Given the description of an element on the screen output the (x, y) to click on. 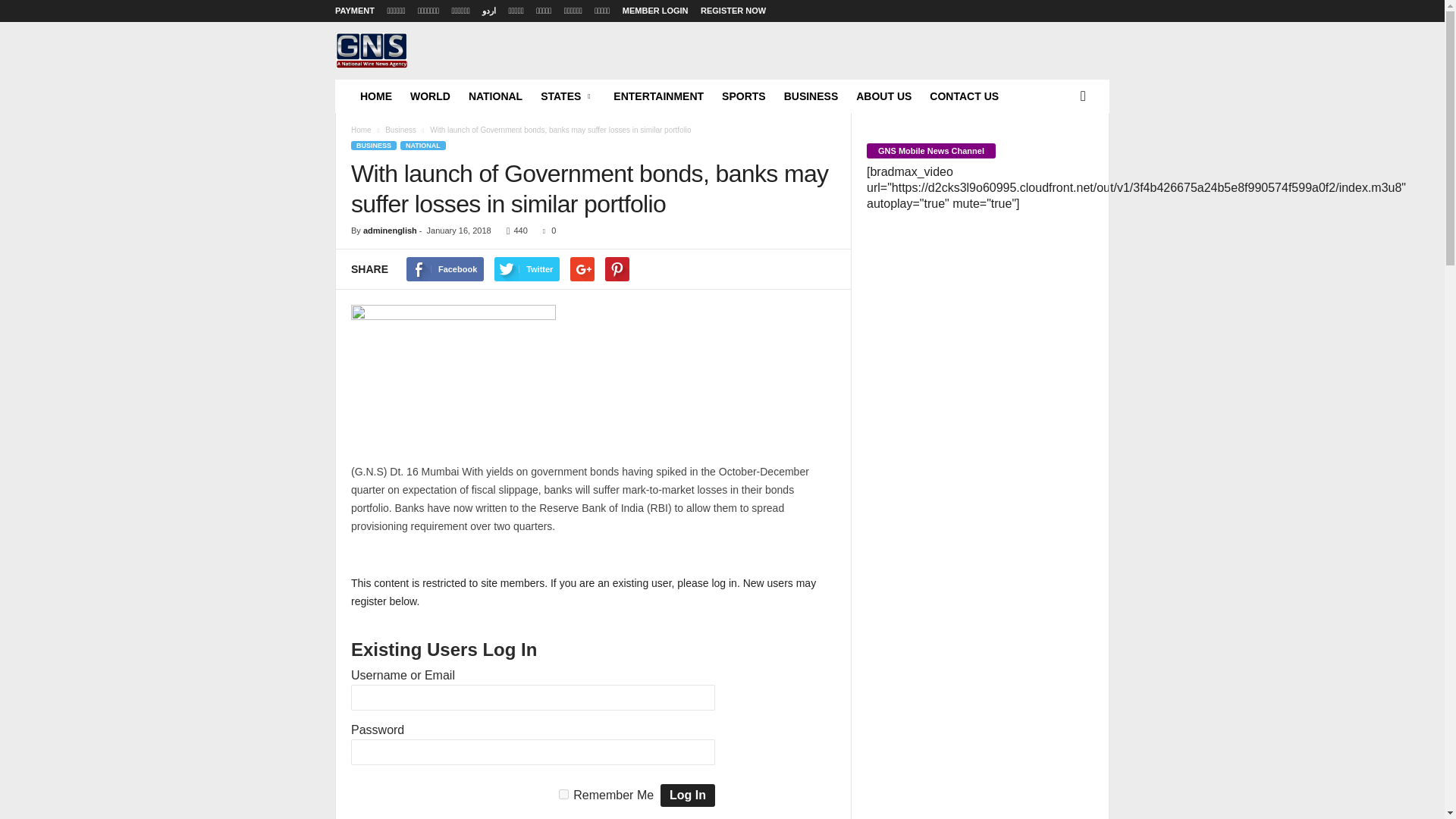
View all posts in Business (400, 130)
GNS News (437, 70)
MEMBER LOGIN (655, 10)
Log In (687, 794)
govt-bonds (453, 375)
REGISTER NOW (732, 10)
PAYMENT (354, 10)
GNS News (370, 50)
forever (564, 794)
